Given the description of an element on the screen output the (x, y) to click on. 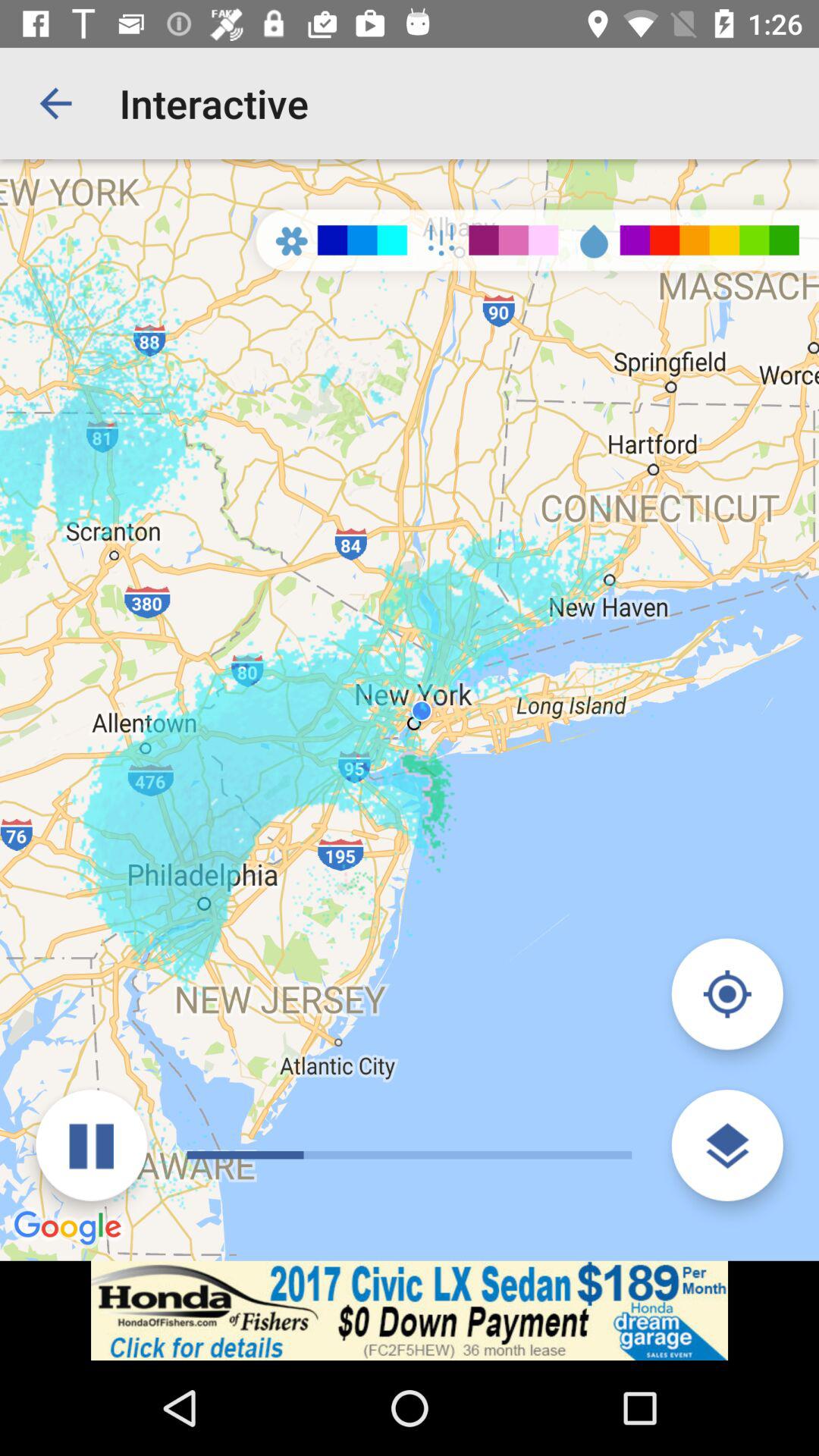
change zoom level (727, 1145)
